Given the description of an element on the screen output the (x, y) to click on. 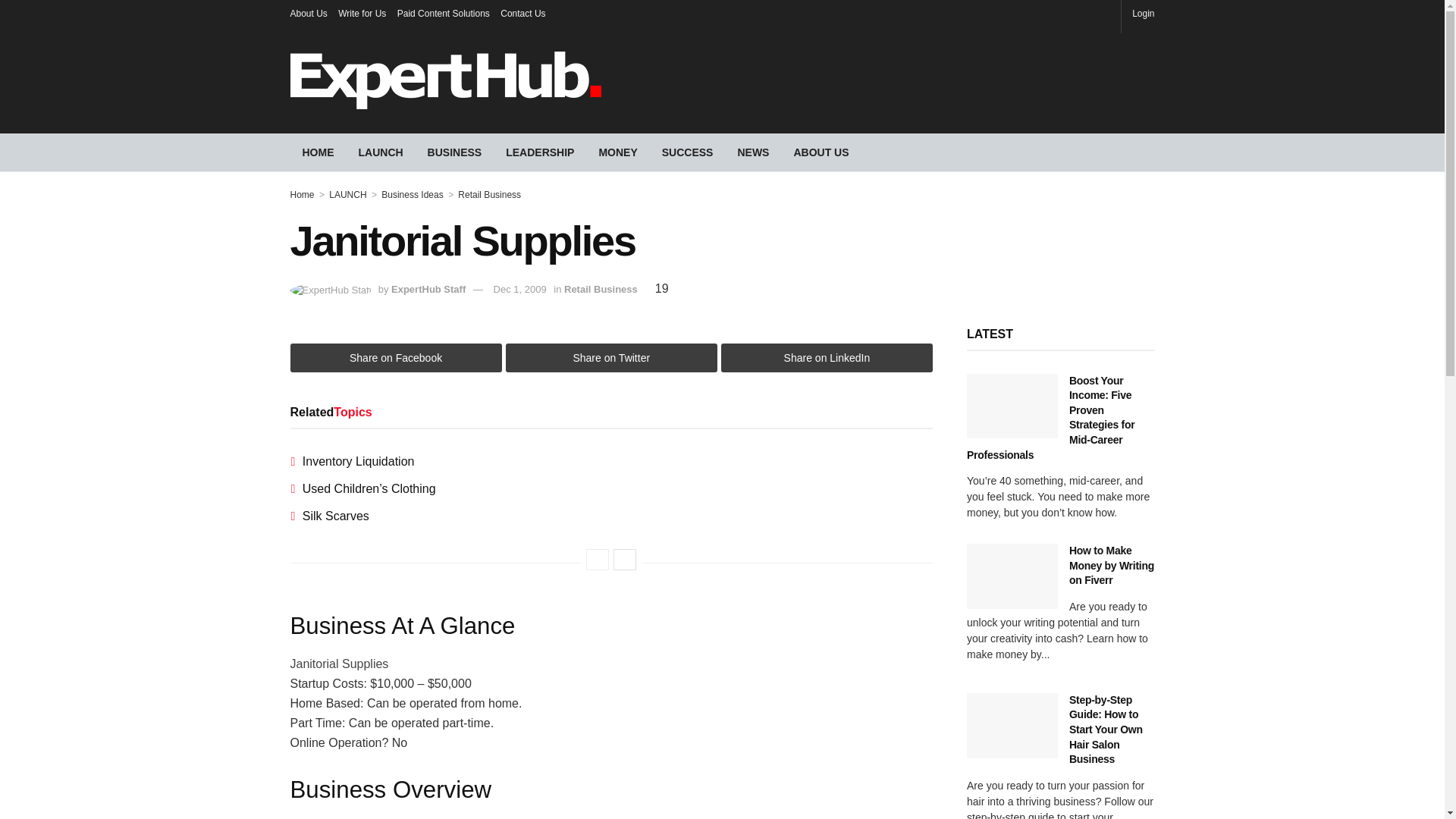
BUSINESS (454, 152)
Previous (597, 559)
About Us (307, 13)
SUCCESS (687, 152)
LEADERSHIP (539, 152)
Contact Us (522, 13)
NEWS (752, 152)
Paid Content Solutions (443, 13)
ABOUT US (820, 152)
Write for Us (361, 13)
